Given the description of an element on the screen output the (x, y) to click on. 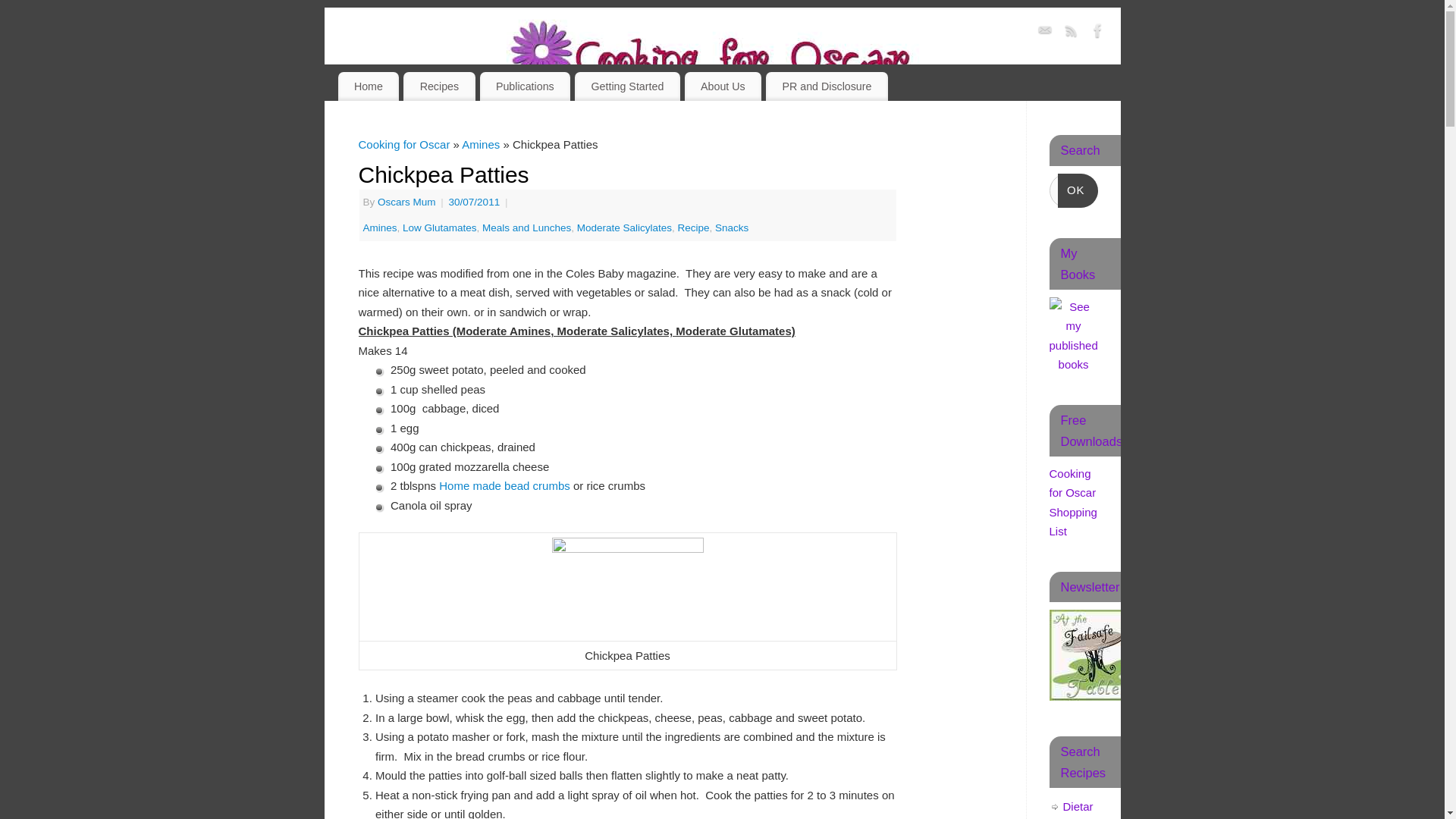
Oscars Mum (406, 202)
Home (367, 86)
Publications (524, 86)
Home made bead crumbs (506, 485)
Low Glutamates (440, 227)
Moderate Salicylates (623, 227)
Amines (480, 144)
Cooking for Oscar (403, 144)
8:06 AM (475, 202)
Dietary Type (1077, 809)
Amines (379, 227)
Recipe (694, 227)
Snacks (731, 227)
About Us (722, 86)
Meals and Lunches (525, 227)
